Given the description of an element on the screen output the (x, y) to click on. 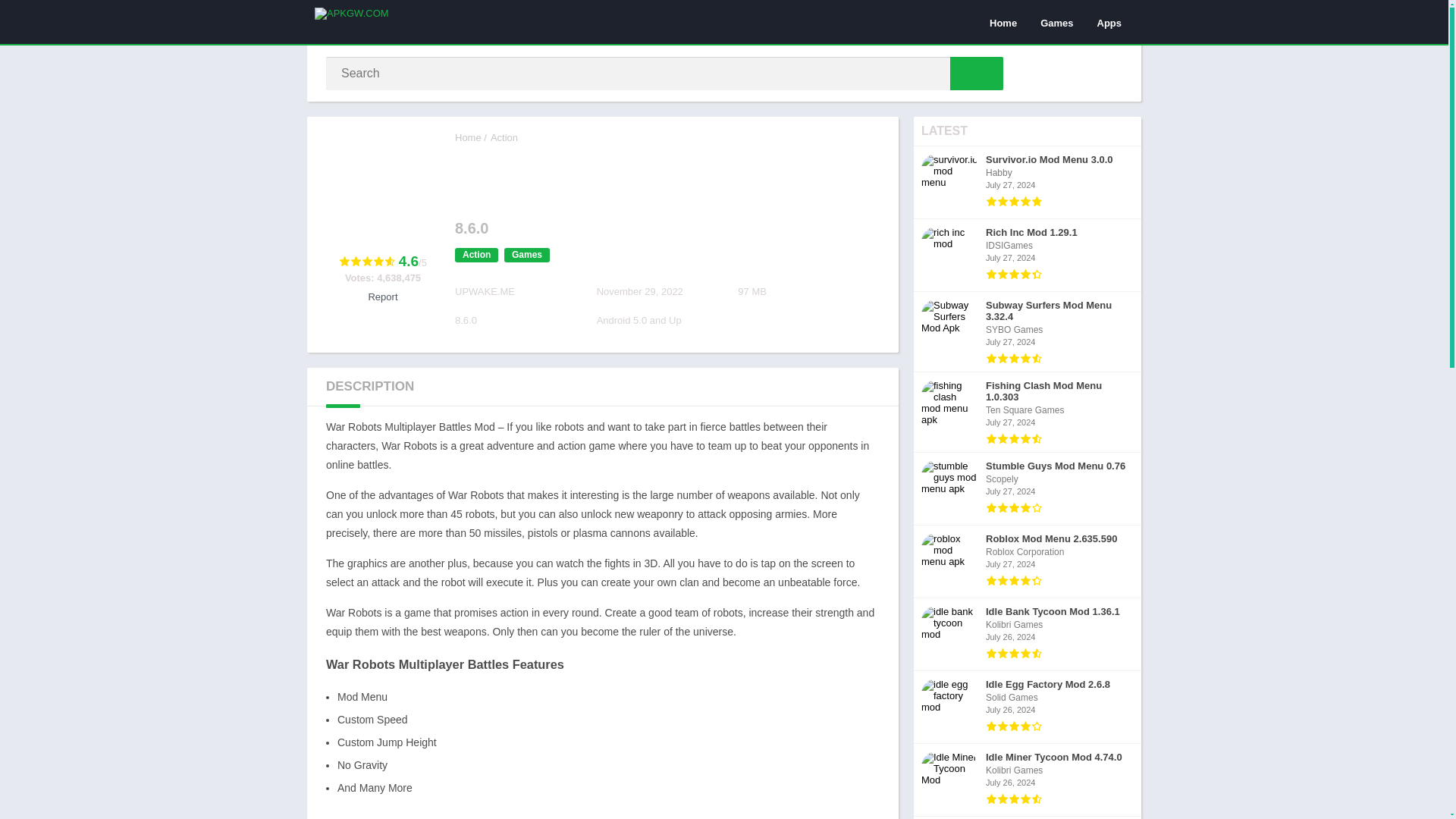
Games (526, 255)
Home (1027, 331)
Action (1027, 255)
Action (1002, 22)
Home (1027, 706)
Apps (1027, 182)
